Given the description of an element on the screen output the (x, y) to click on. 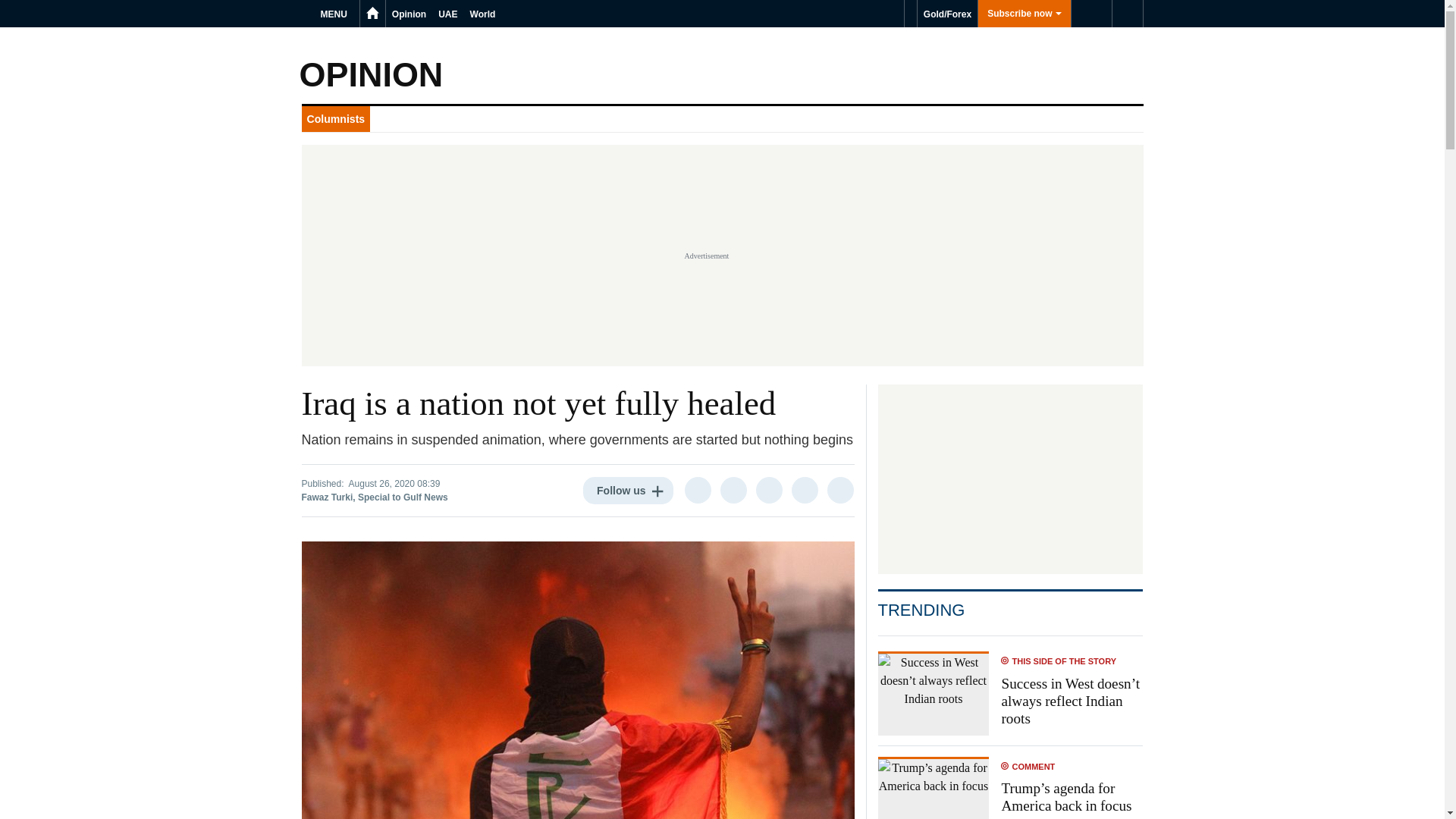
MENU (336, 13)
UAE (447, 13)
Opinion (408, 13)
World (483, 13)
Subscribe now (1024, 13)
